Given the description of an element on the screen output the (x, y) to click on. 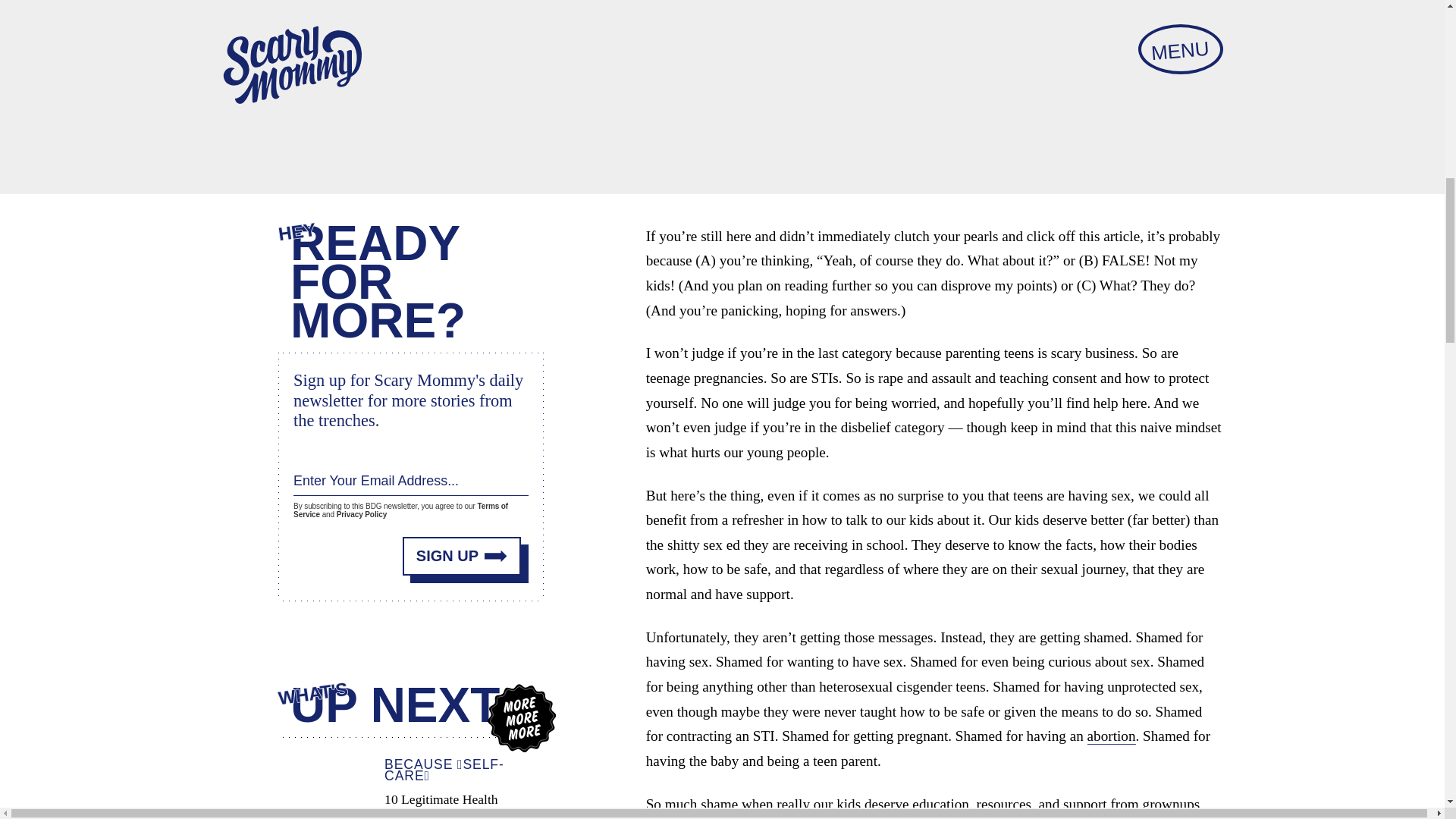
SIGN UP (462, 556)
Terms of Service (401, 510)
abortion (1111, 736)
Privacy Policy (361, 514)
